Given the description of an element on the screen output the (x, y) to click on. 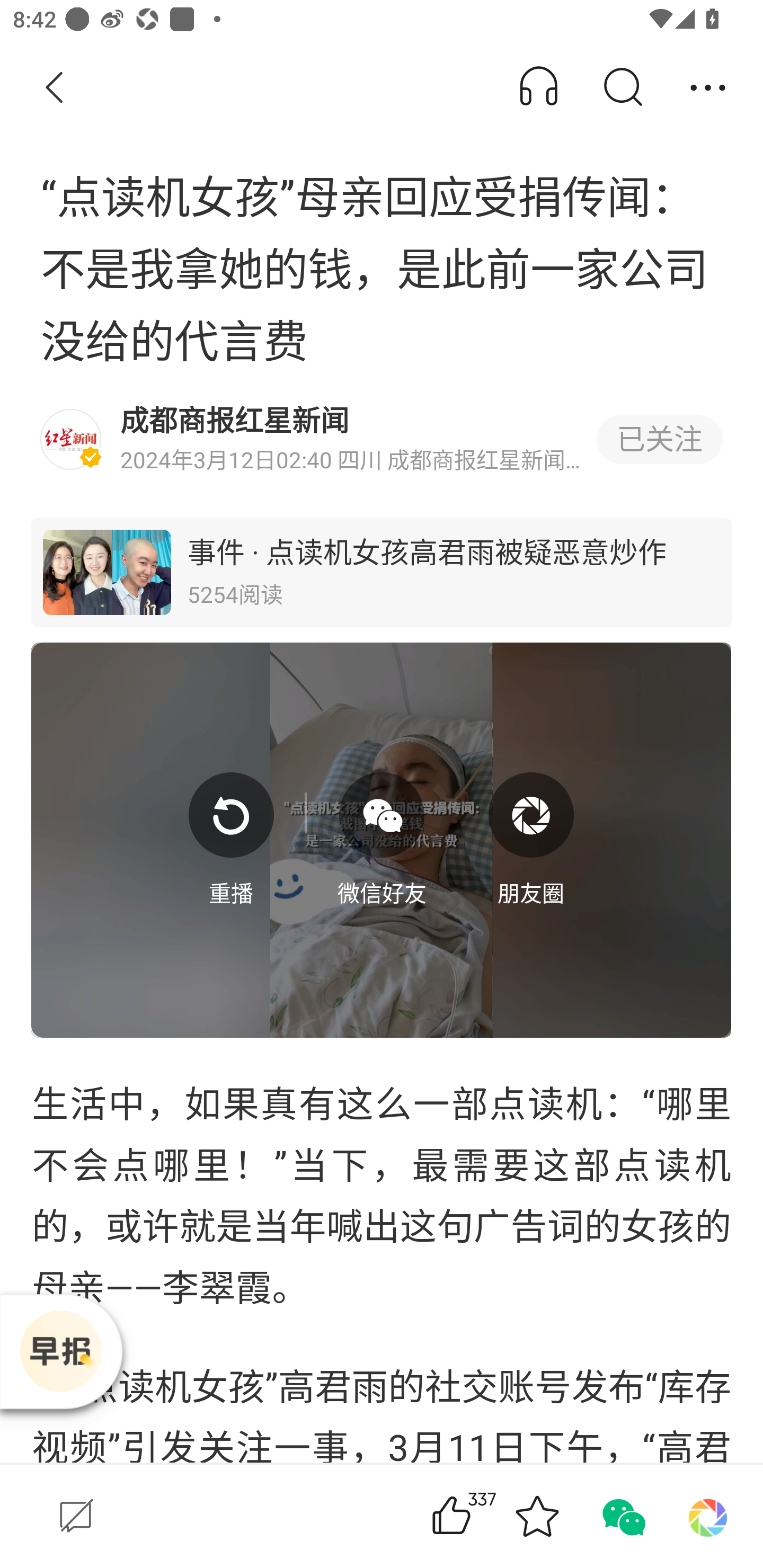
搜索  (622, 87)
分享  (707, 87)
 返回 (54, 87)
成都商报红星新闻 2024年3月12日02:40 四川 成都商报红星新闻官方账号 已关注 (381, 439)
已关注 (659, 439)
事件 ·  点读机女孩高君雨被疑恶意炒作 5254阅读 (381, 572)
00:15 (381, 839)
 (230, 815)
 (381, 815)
 (530, 815)
播放器 (60, 1351)
发表评论  发表评论 (199, 1516)
337赞 (476, 1516)
收藏  (536, 1516)
分享到微信  (622, 1516)
分享到朋友圈 (707, 1516)
